Given the description of an element on the screen output the (x, y) to click on. 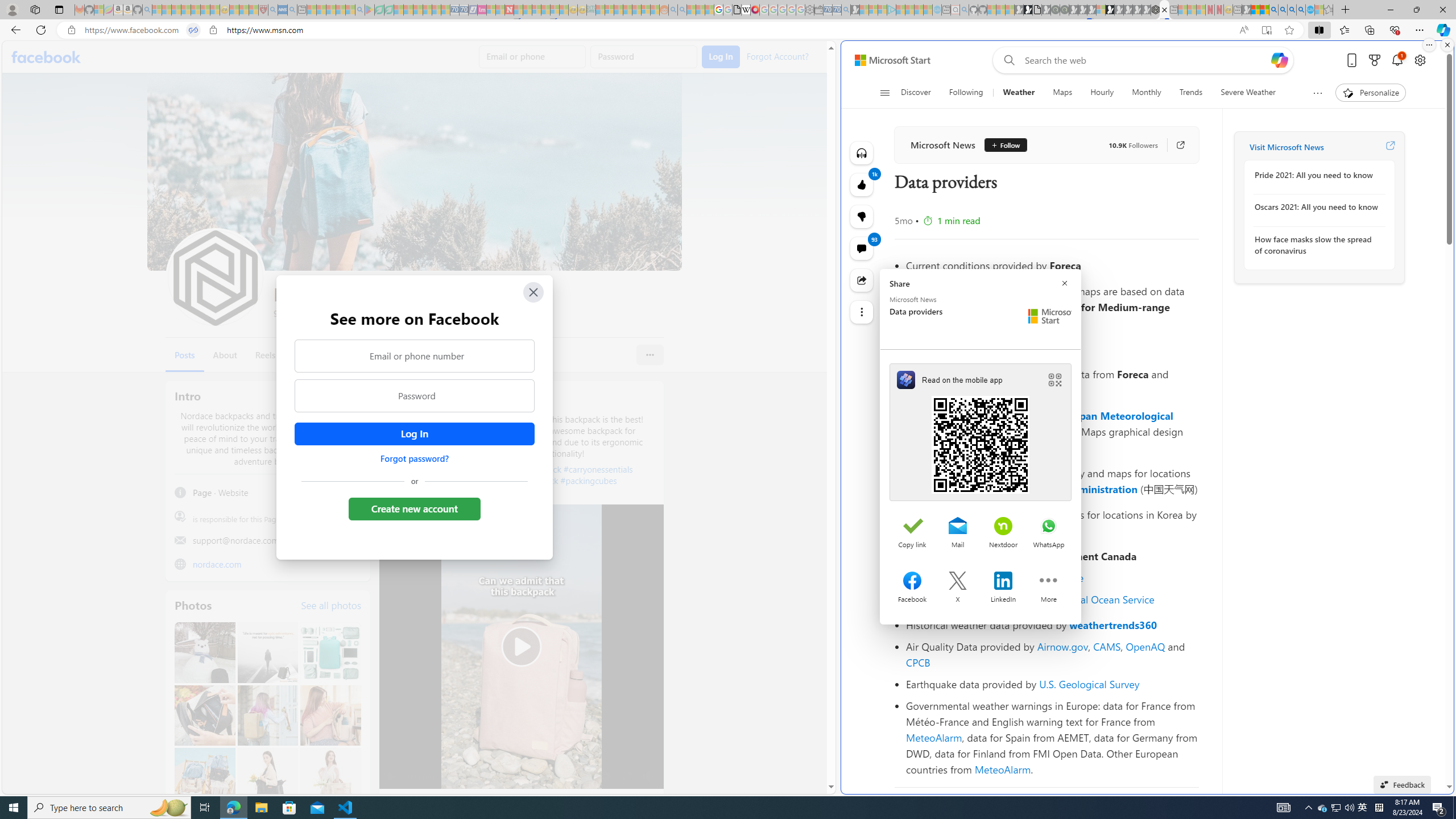
Create new account (413, 508)
Microsoft Start Gaming - Sleeping (854, 9)
CPCB (917, 662)
Bing Real Estate - Home sales and rental listings - Sleeping (846, 9)
